Given the description of an element on the screen output the (x, y) to click on. 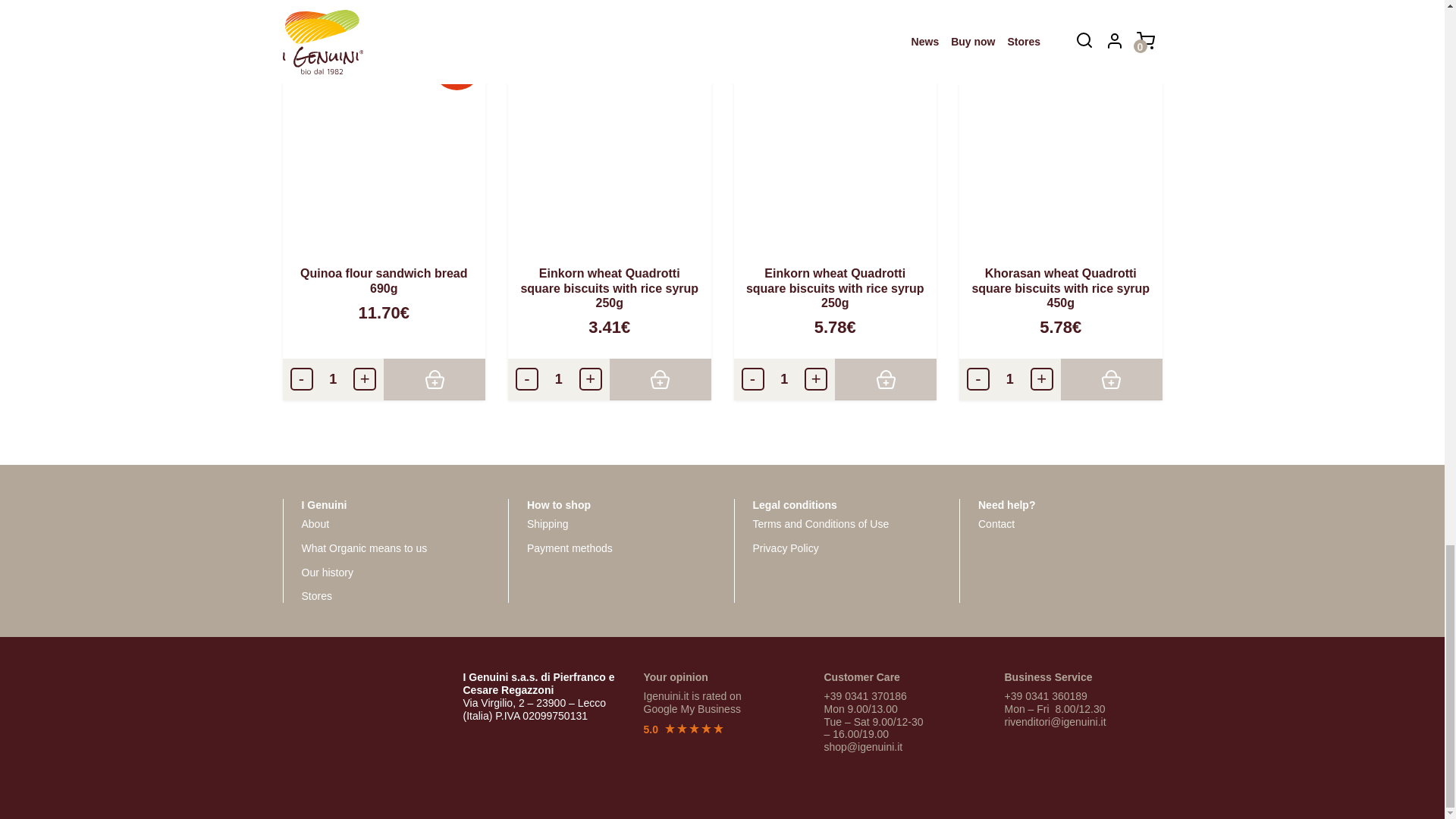
NEW! (383, 138)
Qty (559, 379)
1 (1010, 379)
1 (559, 379)
Qty (1010, 379)
1 (333, 379)
1 (784, 379)
Qty (784, 379)
Qty (333, 379)
